Given the description of an element on the screen output the (x, y) to click on. 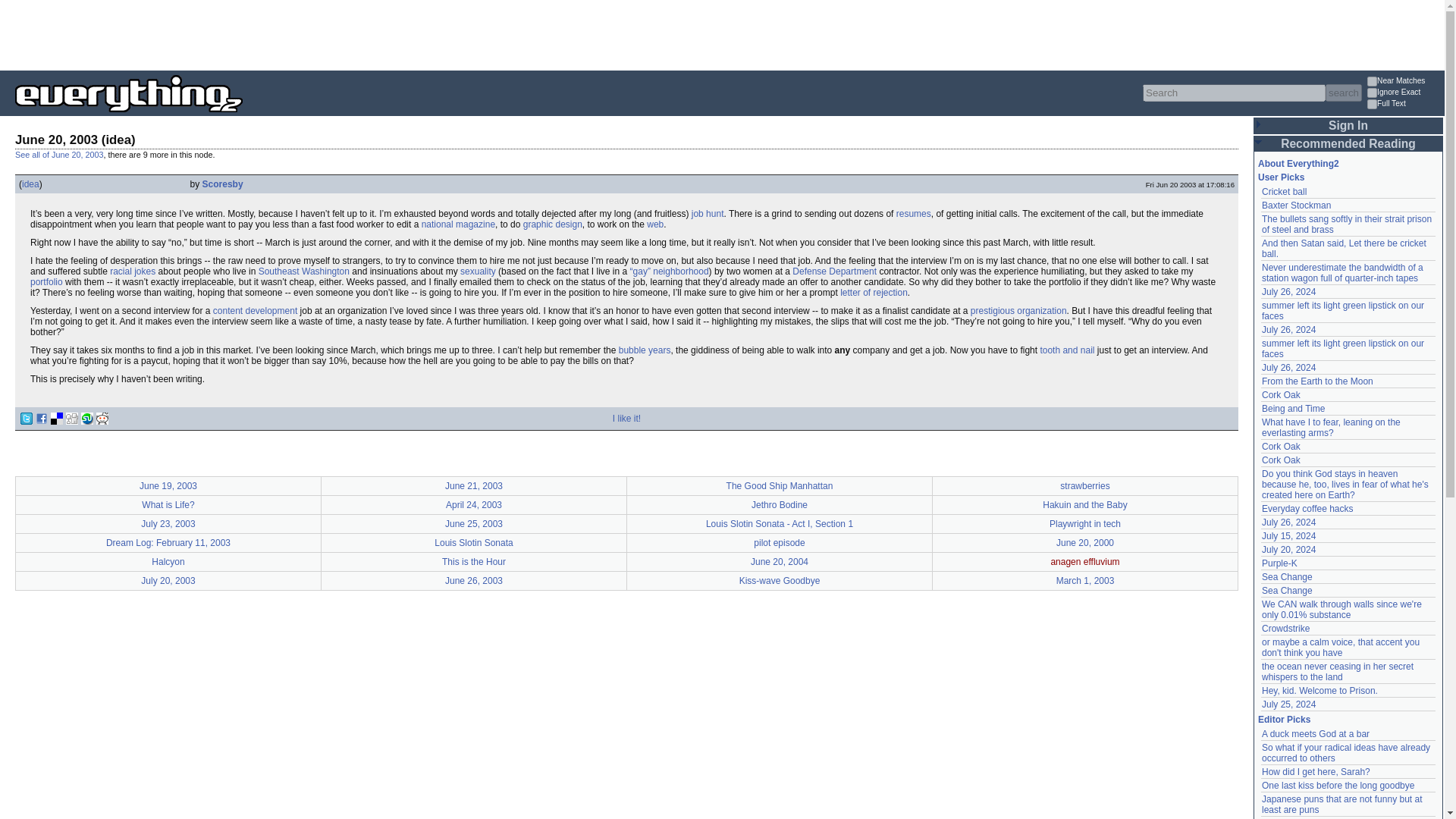
prestigious organization (1019, 310)
graphic design (552, 224)
Louis Slotin Sonata - Act I, Section 1 (779, 523)
web (654, 224)
Advertisement (275, 33)
letter of rejection (873, 292)
I like it! (626, 418)
racial jokes (132, 271)
Southeast Washington (304, 271)
sexuality (478, 271)
letter of rejection (873, 292)
1 (1372, 92)
Everything (242, 117)
web (654, 224)
Jun 20 2003 at 17:08:16 (1189, 184)
